Given the description of an element on the screen output the (x, y) to click on. 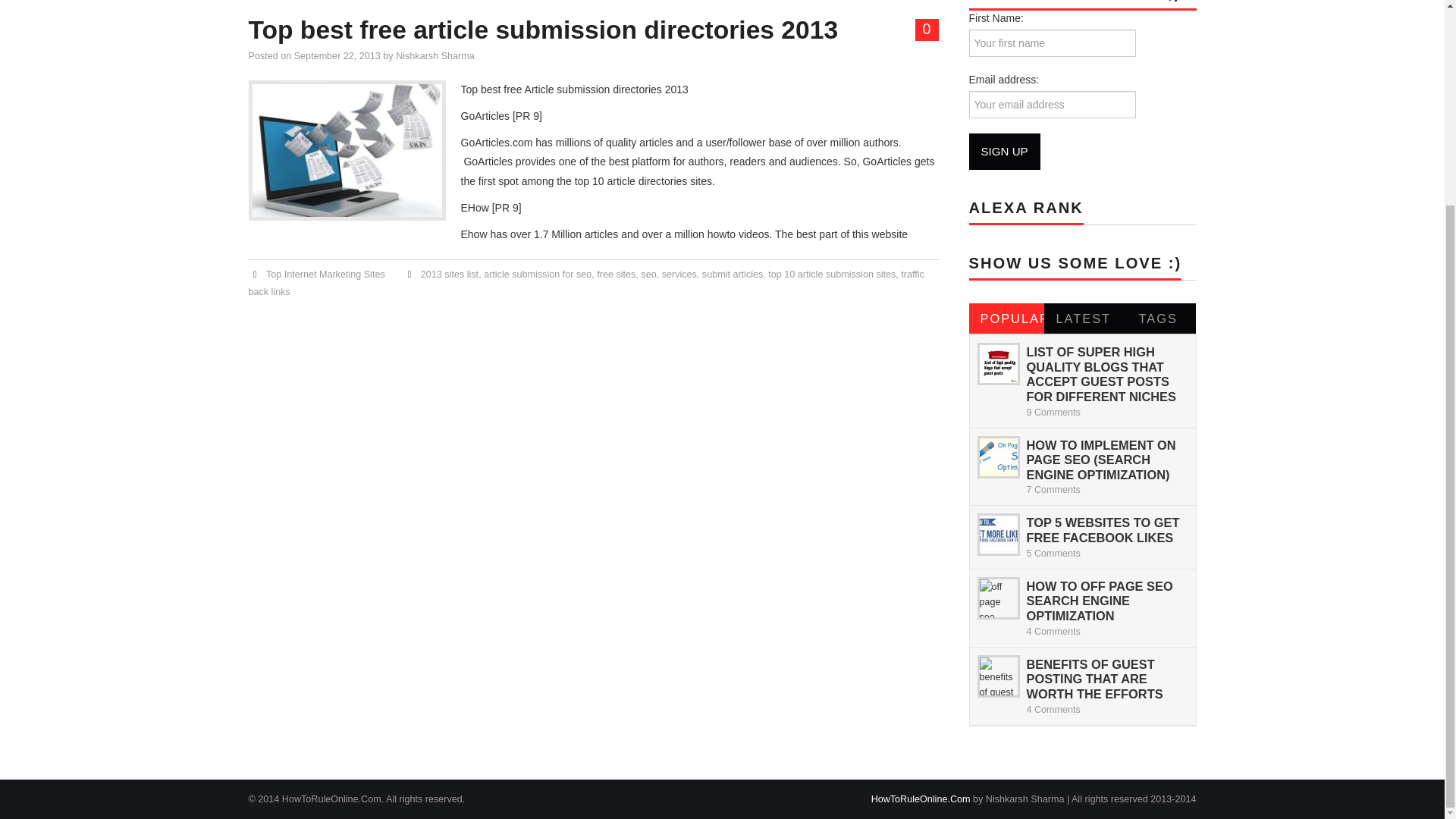
September 22, 2013 (337, 55)
TAGS (1157, 318)
free sites (615, 274)
LATEST (1081, 318)
How to Off Page SEO Search Engine Optimization (1099, 600)
article submission for seo (537, 274)
1:11 PM (337, 55)
TOP 5 WEBSITES TO GET FREE FACEBOOK LIKES (1102, 529)
Comment on Top best free article submission directories 2013 (927, 29)
seo (648, 274)
